Given the description of an element on the screen output the (x, y) to click on. 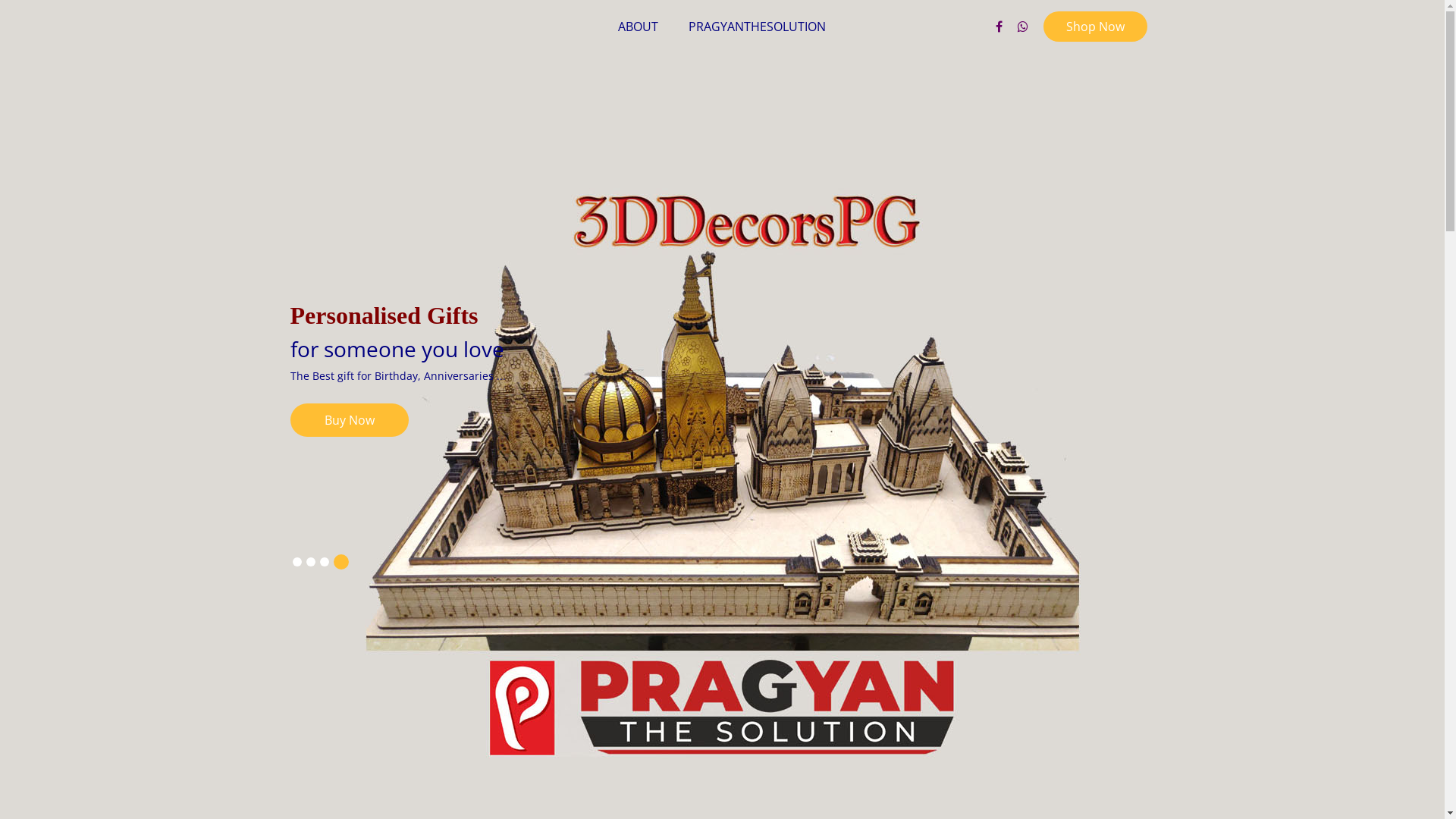
ABOUT Element type: text (637, 26)
PRAGYANTHESOLUTION Element type: text (756, 26)
Buy Now Element type: text (1275, 419)
Shop Now Element type: text (1095, 26)
